Given the description of an element on the screen output the (x, y) to click on. 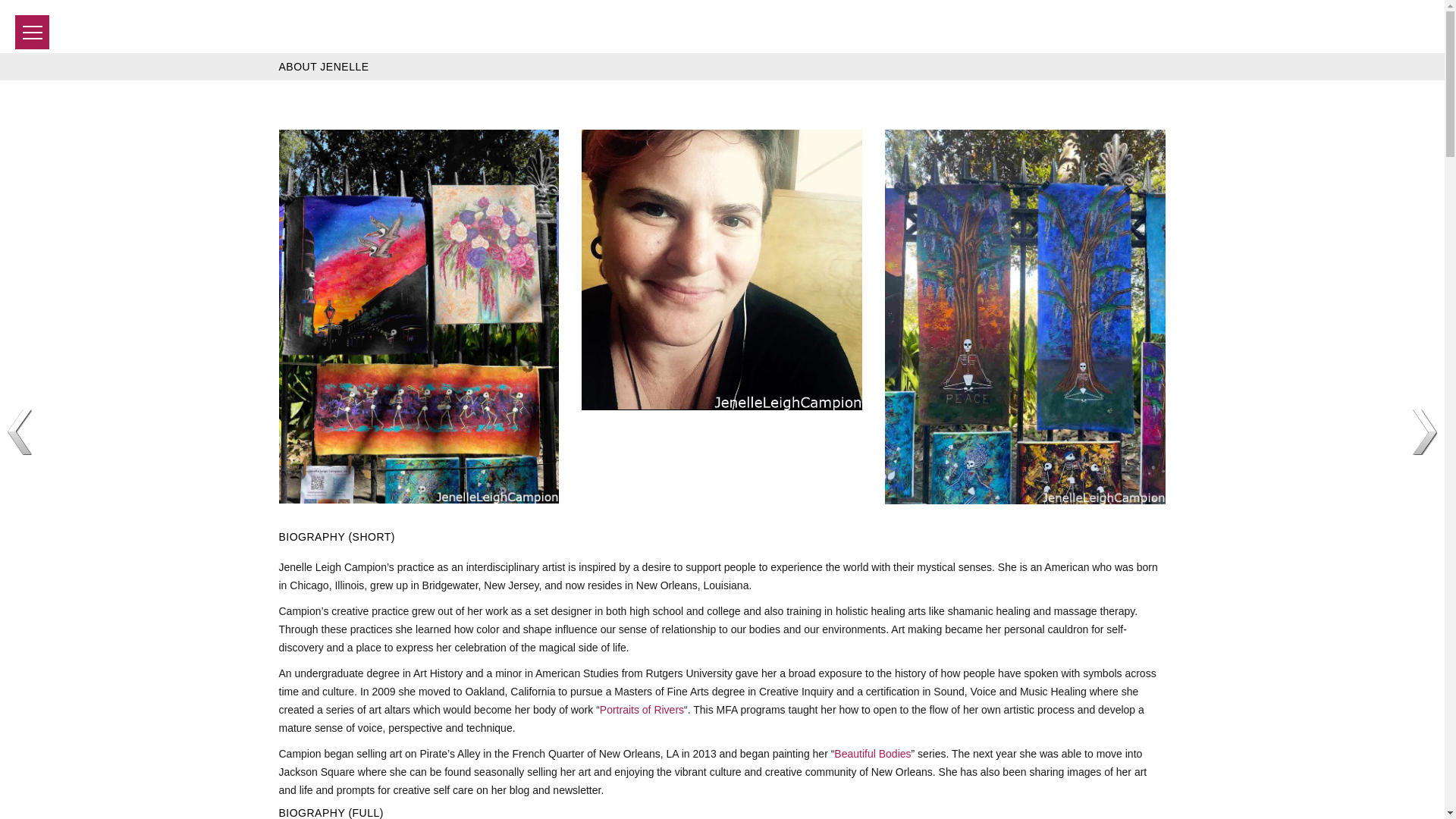
Beautiful Bodies (872, 753)
JLC side light (720, 269)
Portraits of Rivers (641, 709)
